Given the description of an element on the screen output the (x, y) to click on. 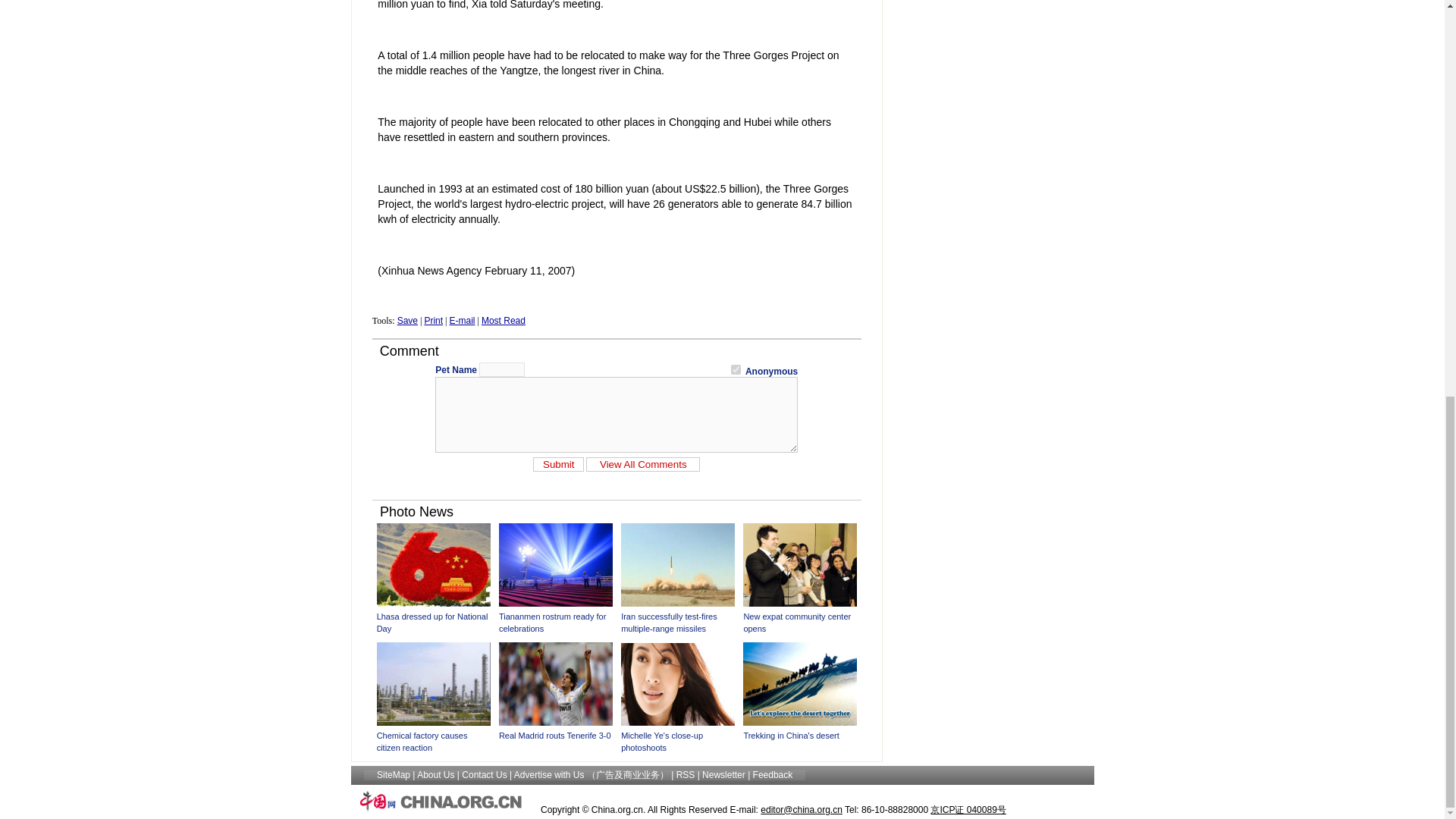
Submit (557, 464)
Save (407, 320)
1 (735, 369)
View All Comments (643, 464)
Print (432, 320)
Most Read (503, 320)
E-mail (461, 320)
